Given the description of an element on the screen output the (x, y) to click on. 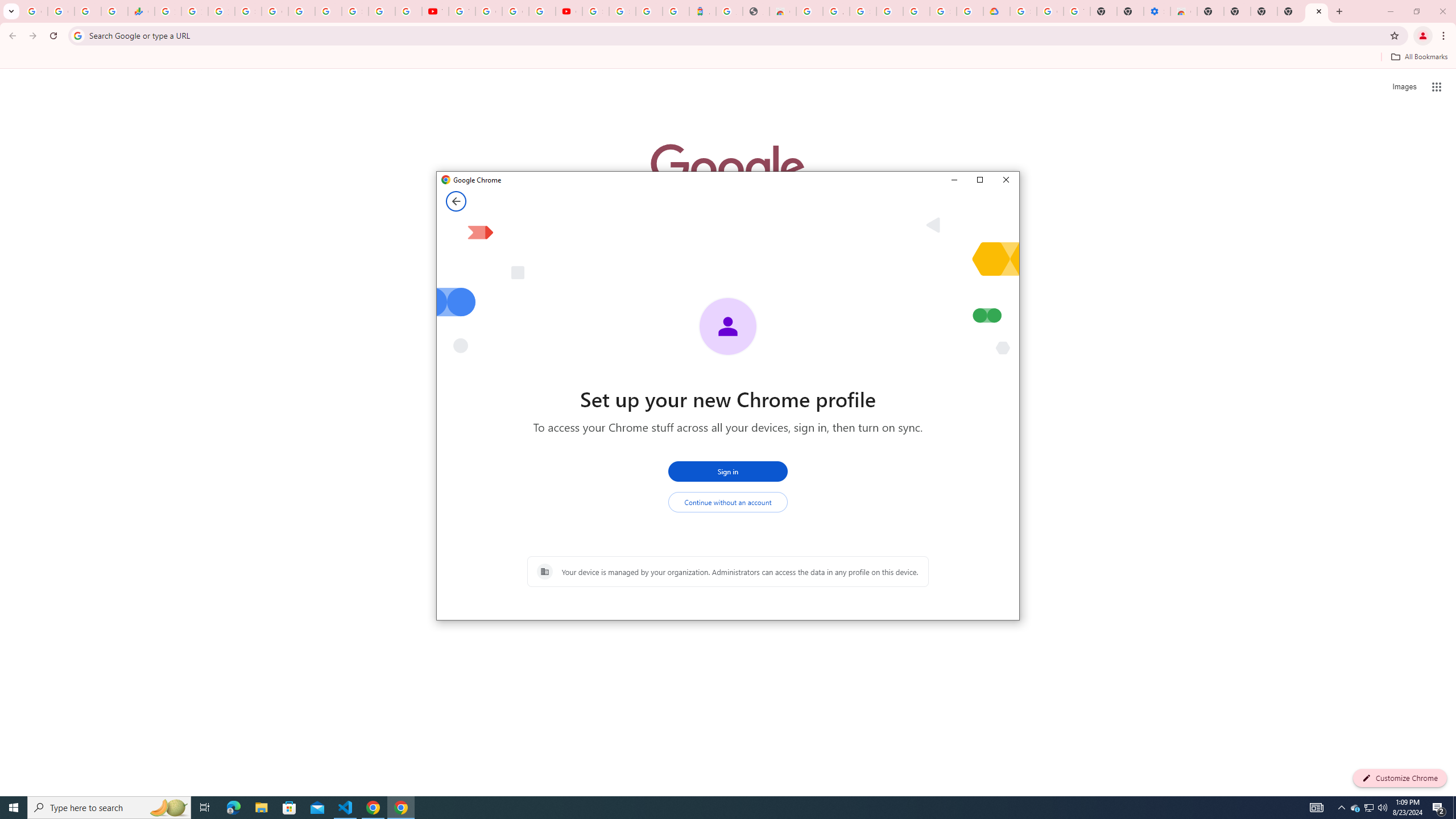
Sign in - Google Accounts (1023, 11)
Sign in - Google Accounts (622, 11)
Back from Set up your new Chrome profile page (455, 200)
New Tab (1210, 11)
Visual Studio Code - 1 running window (345, 807)
Notification Chevron (1341, 807)
Search for Images  (1403, 87)
